Given the description of an element on the screen output the (x, y) to click on. 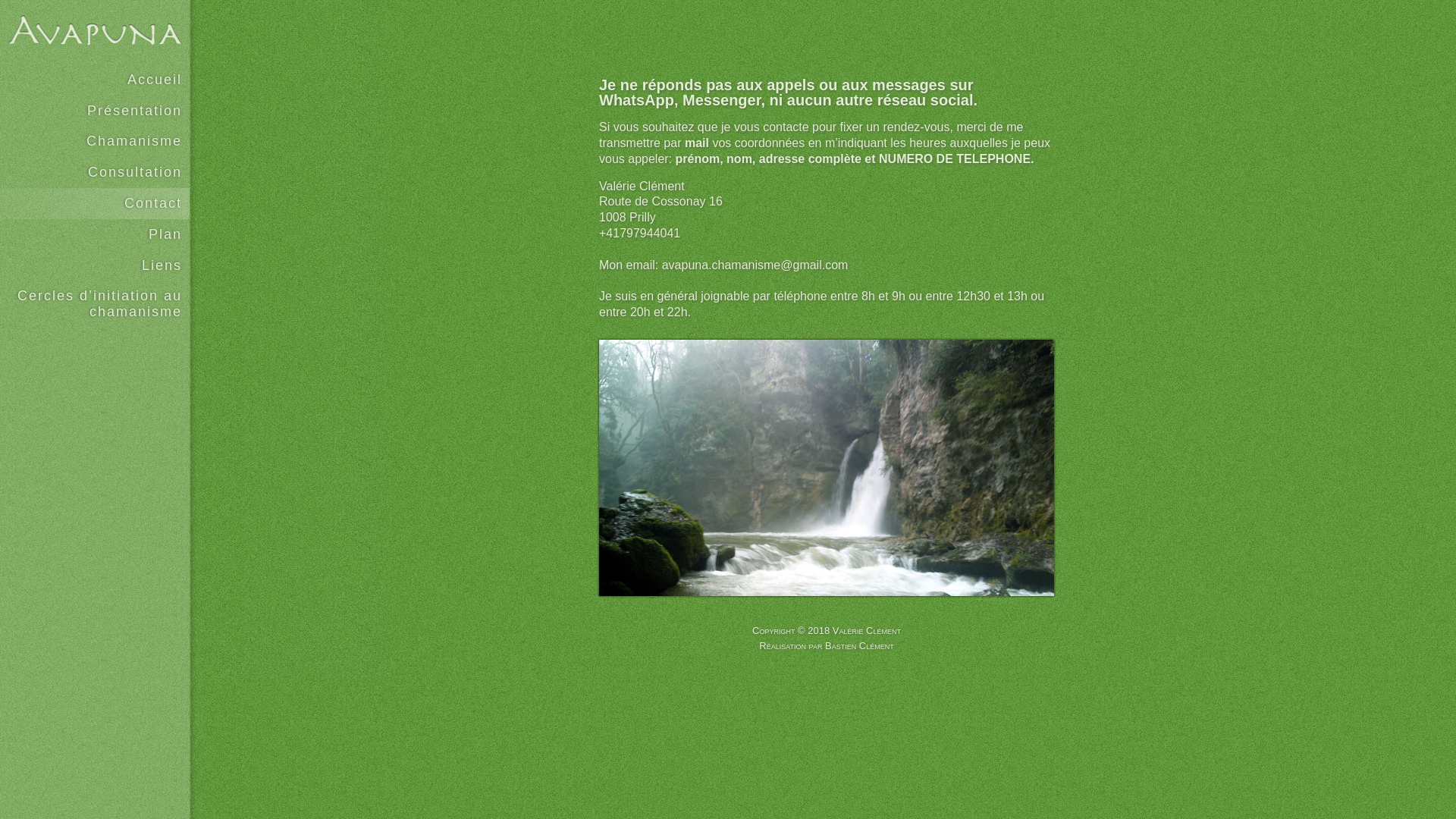
Consultation Element type: text (94, 172)
Chamanisme Element type: text (94, 140)
Plan Element type: text (94, 234)
Accueil Element type: text (94, 79)
avapuna.chamanisme@gmail.com Element type: text (755, 264)
Contact Element type: text (94, 203)
+41797944041 Element type: text (639, 232)
Liens Element type: text (94, 265)
